Given the description of an element on the screen output the (x, y) to click on. 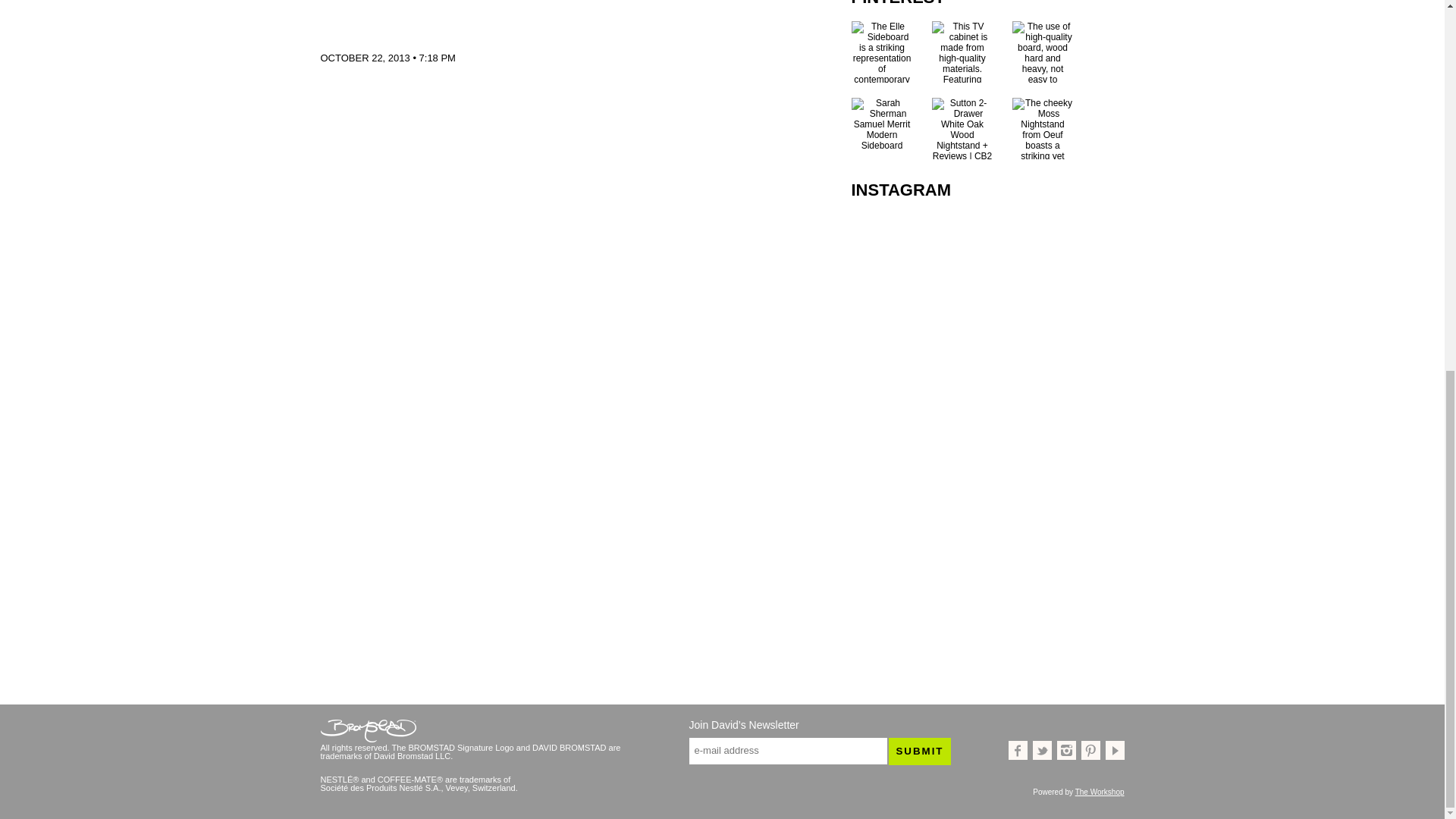
Submit (919, 750)
Like David Bromstad on Facebook (1018, 750)
Follow David Bromstad on Twitter (1041, 750)
Follow David Bromstad on Instagram (1066, 750)
